Given the description of an element on the screen output the (x, y) to click on. 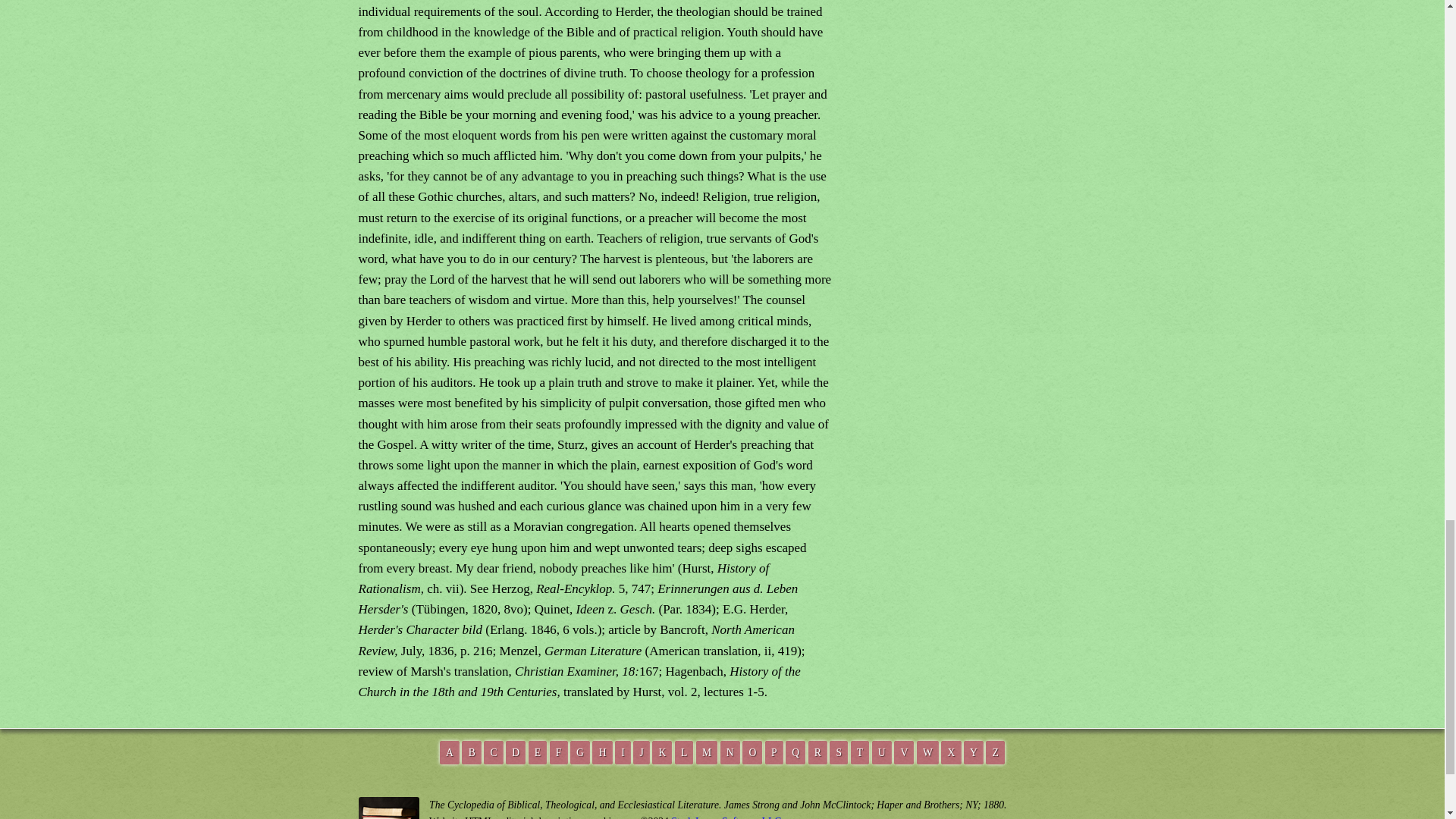
M (706, 752)
StudyLamp Software LLC. (727, 817)
W (928, 752)
